Given the description of an element on the screen output the (x, y) to click on. 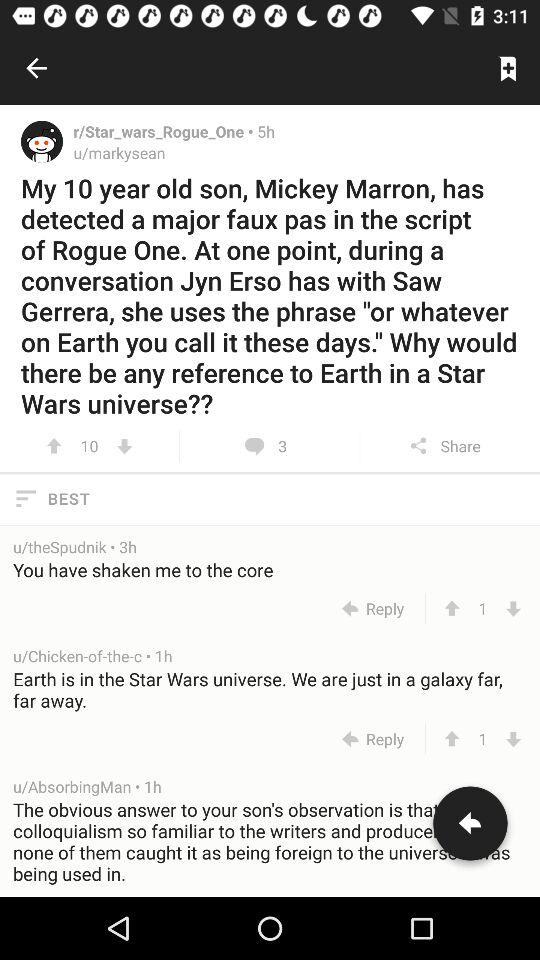
open item above u/markysean (165, 131)
